Given the description of an element on the screen output the (x, y) to click on. 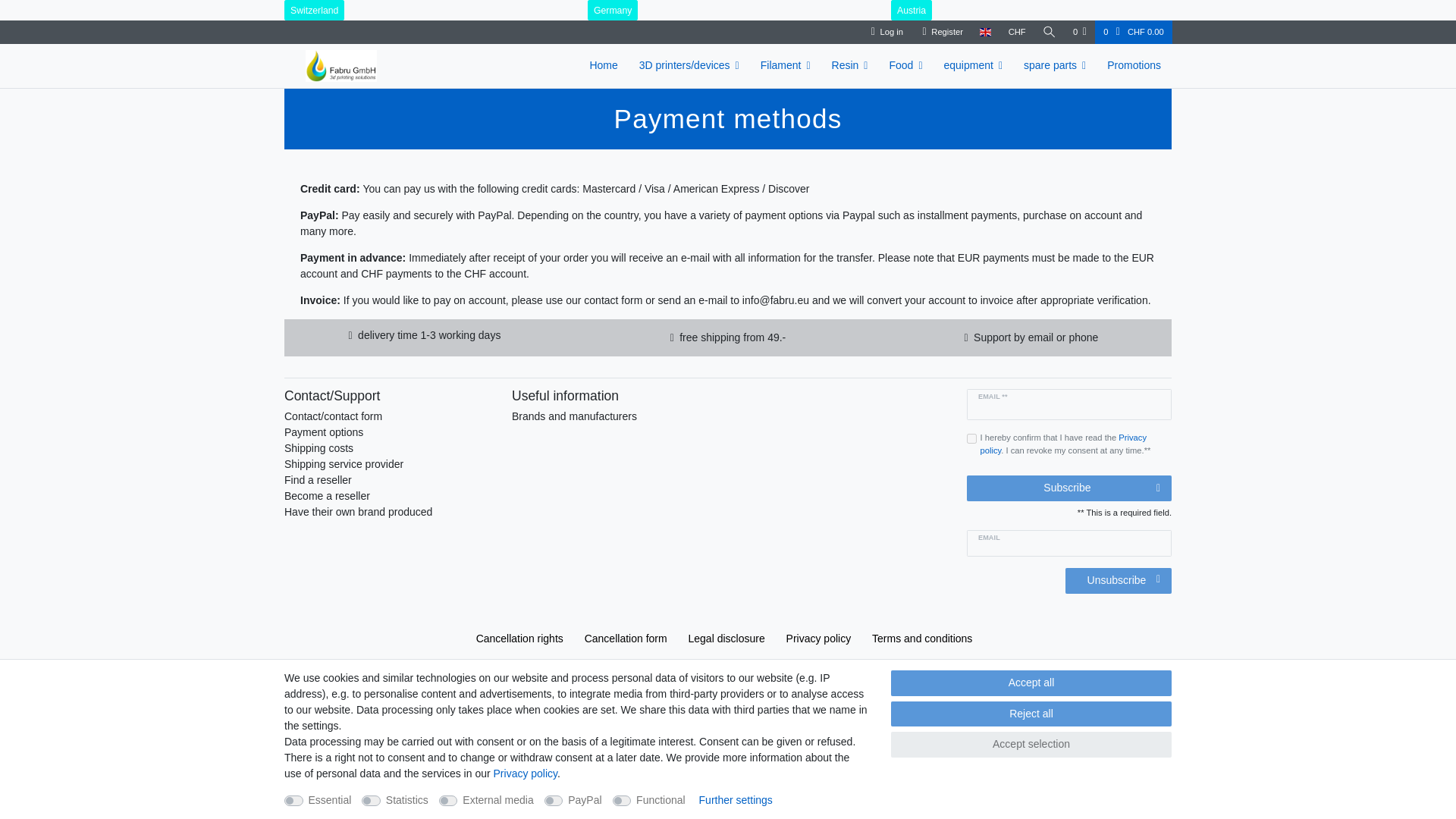
0 (1079, 32)
Register (942, 32)
Austria (911, 10)
Log in (887, 32)
Germany (612, 10)
0 CHF 0.00 (1133, 32)
on (971, 438)
CHF (1015, 32)
Filament (785, 65)
Home (602, 65)
